Given the description of an element on the screen output the (x, y) to click on. 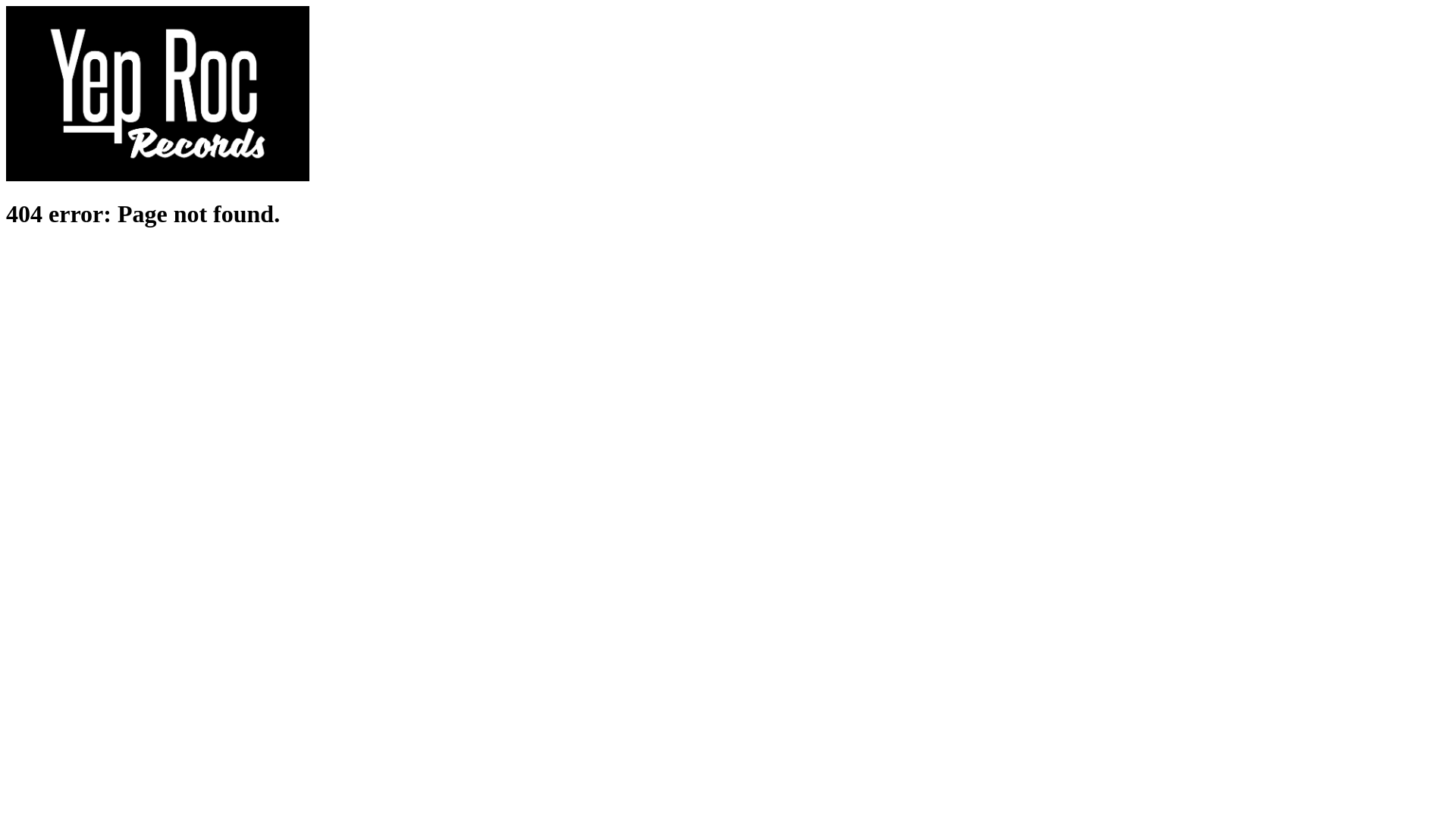
Yep Roc Records Element type: hover (157, 176)
